Given the description of an element on the screen output the (x, y) to click on. 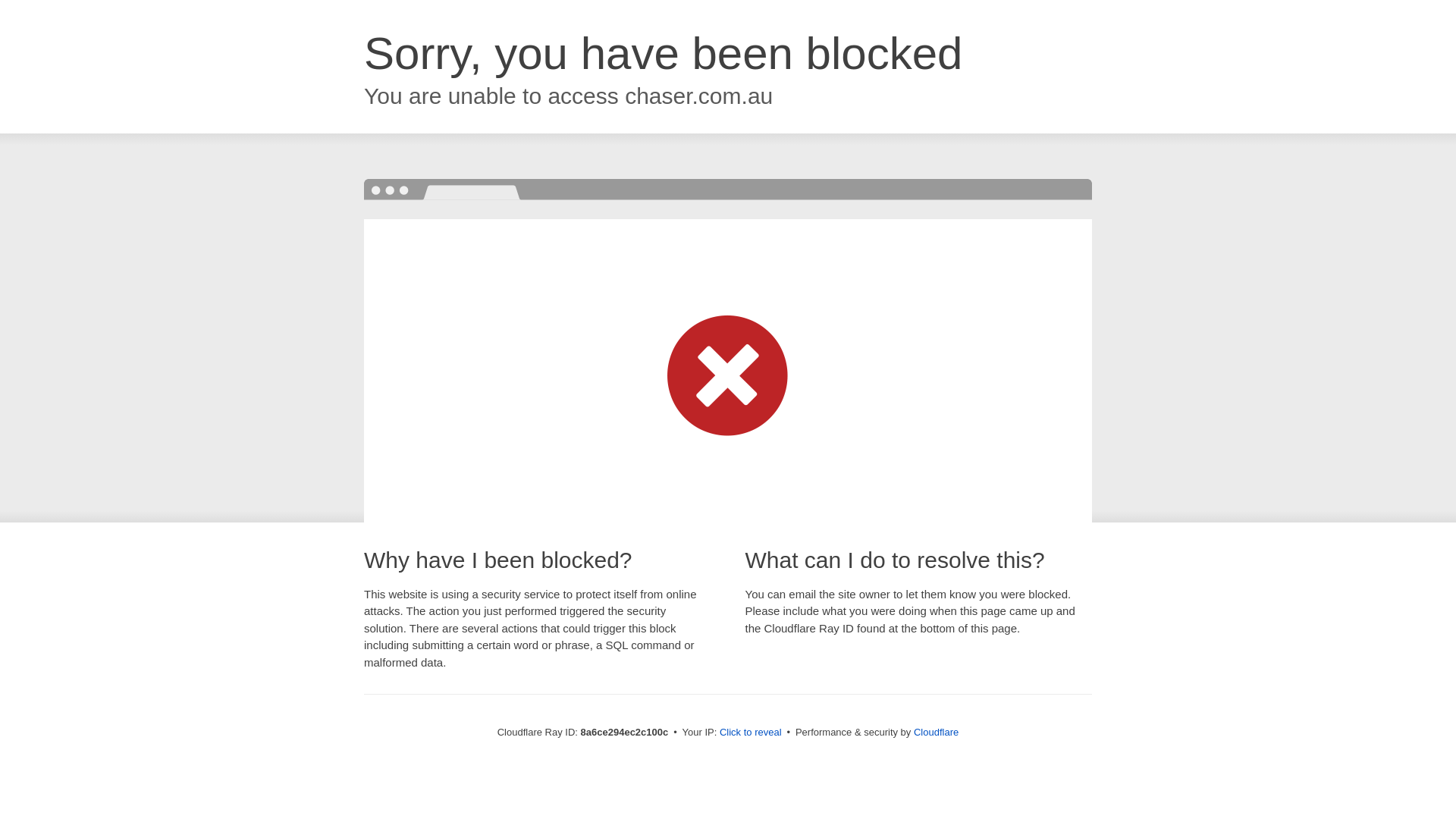
Click to reveal (750, 732)
Cloudflare (936, 731)
